Given the description of an element on the screen output the (x, y) to click on. 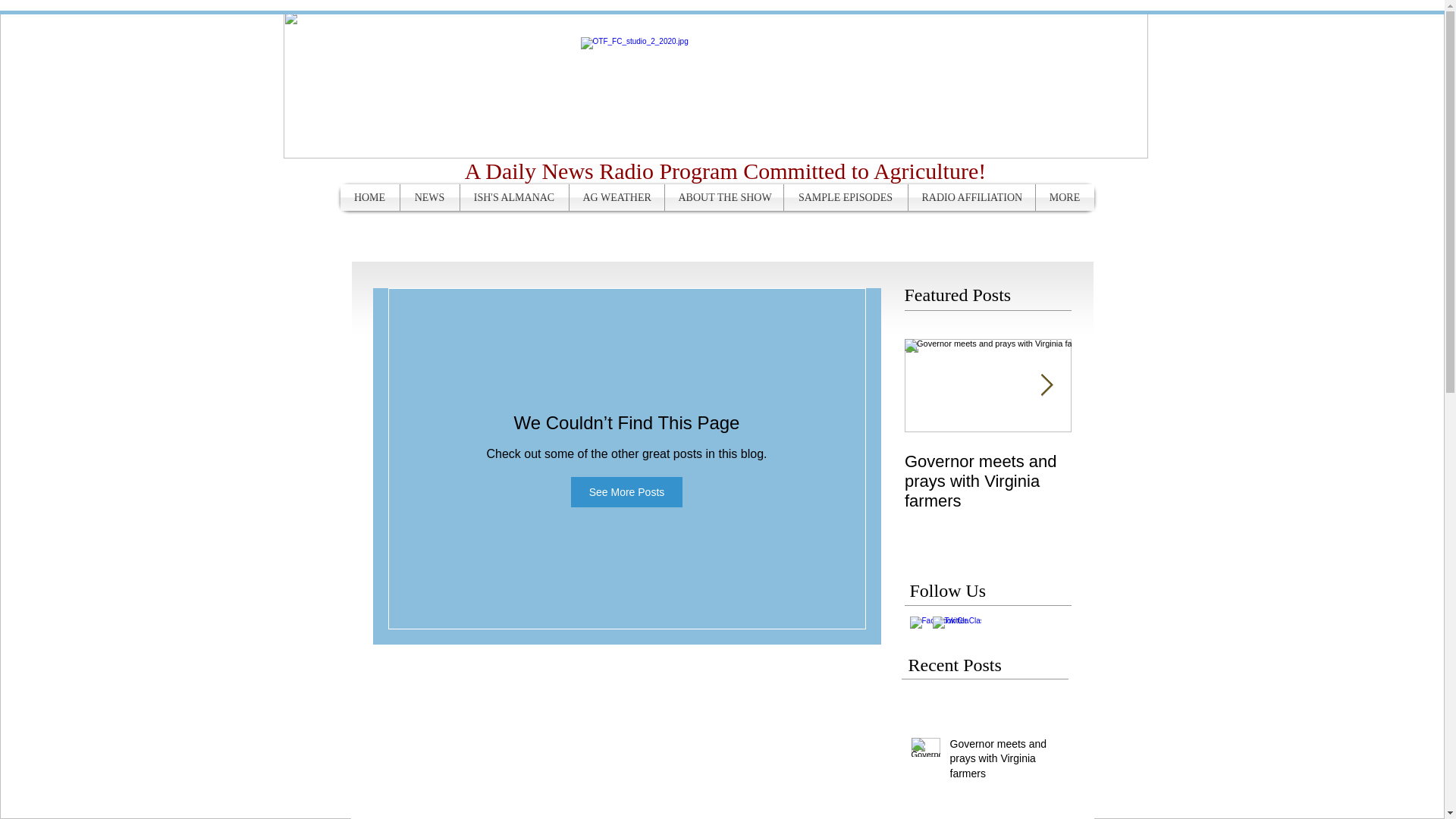
RADIO AFFILIATION (971, 197)
ABOUT THE SHOW (723, 197)
HOME (368, 197)
USDA: Dairy industry is evolving (1153, 471)
AG WEATHER (616, 197)
SAMPLE EPISODES (845, 197)
Governor meets and prays with Virginia farmers (987, 481)
ISH'S ALMANAC (513, 197)
See More Posts (626, 491)
Governor meets and prays with Virginia farmers (1003, 762)
